Given the description of an element on the screen output the (x, y) to click on. 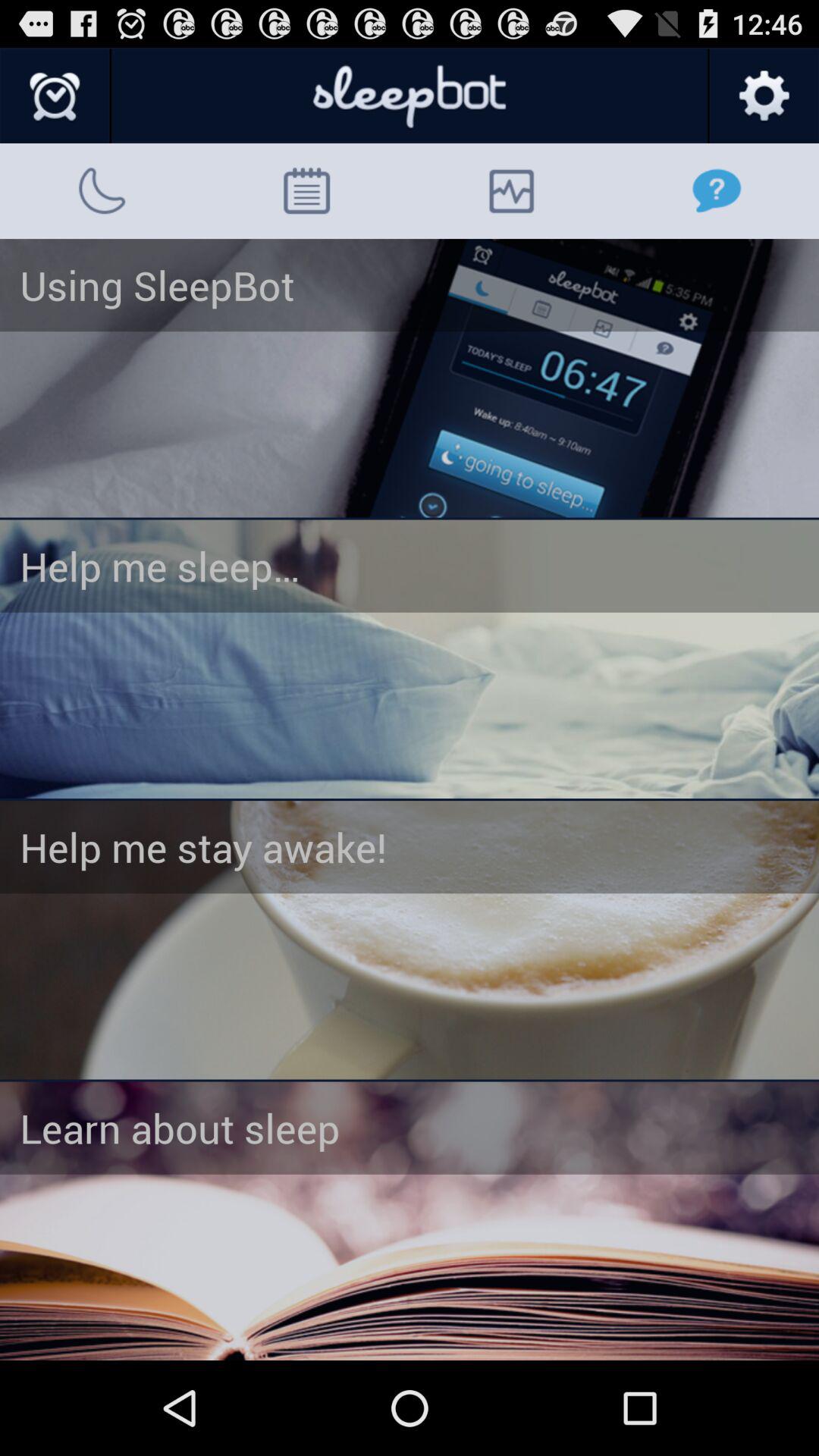
go to this page (409, 939)
